Given the description of an element on the screen output the (x, y) to click on. 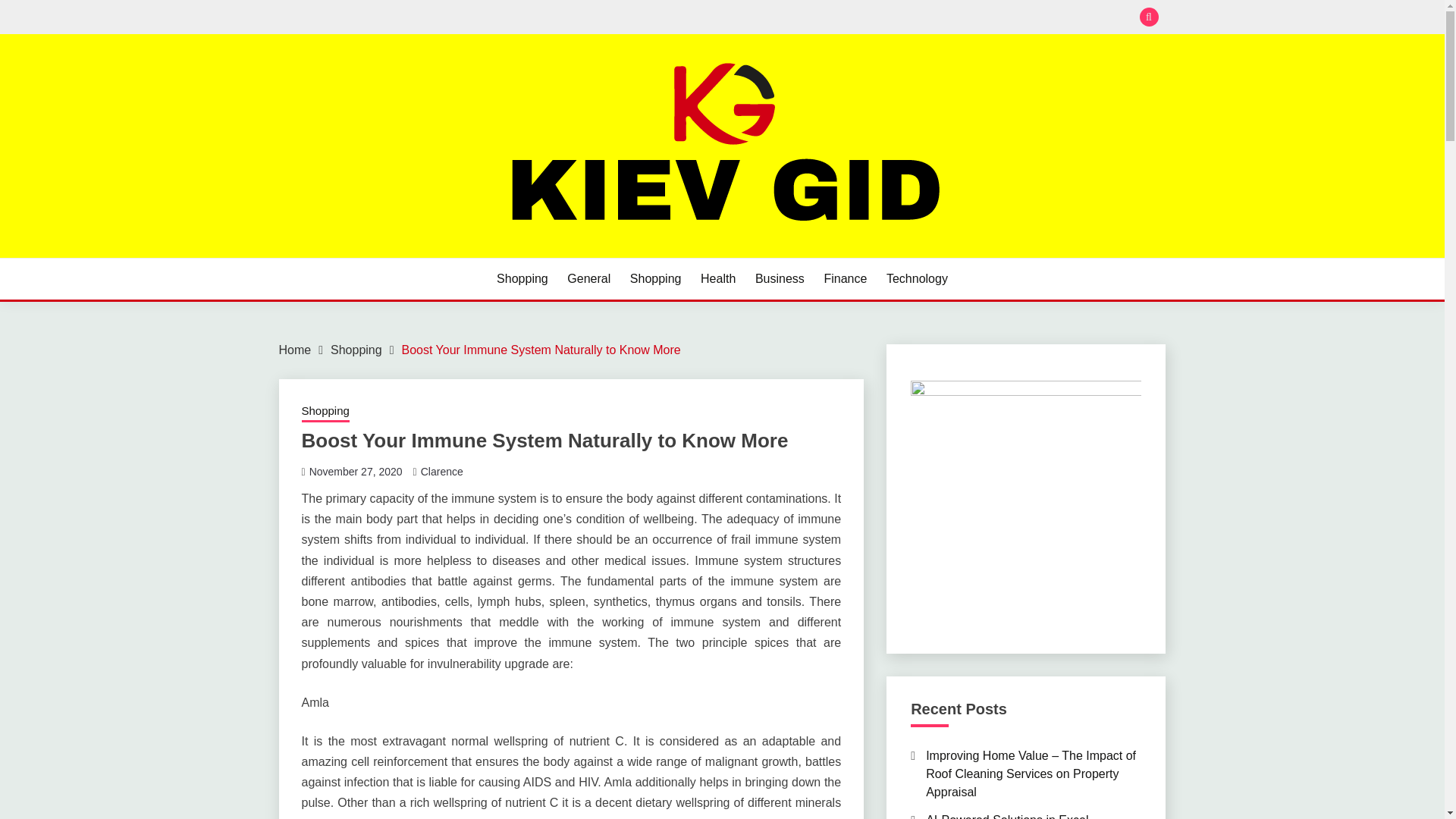
General (588, 279)
Shopping (355, 349)
Finance (845, 279)
Home (295, 349)
Search (832, 18)
Shopping (325, 412)
Shopping (522, 279)
Health (717, 279)
Business (780, 279)
November 27, 2020 (355, 471)
